Given the description of an element on the screen output the (x, y) to click on. 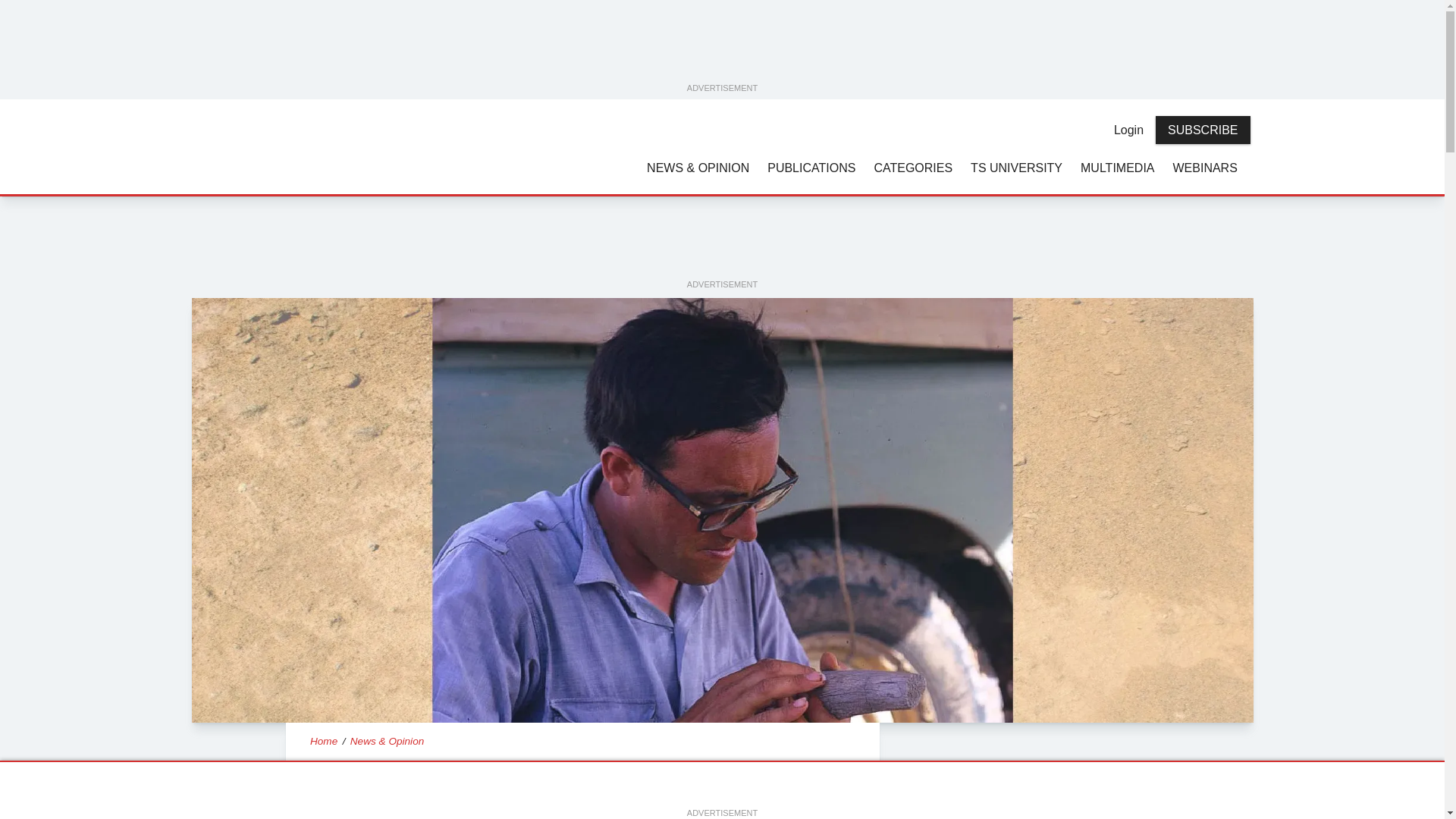
SUBSCRIBE (1202, 130)
Login (1127, 130)
TS UNIVERSITY (1015, 167)
CATEGORIES (912, 167)
